Given the description of an element on the screen output the (x, y) to click on. 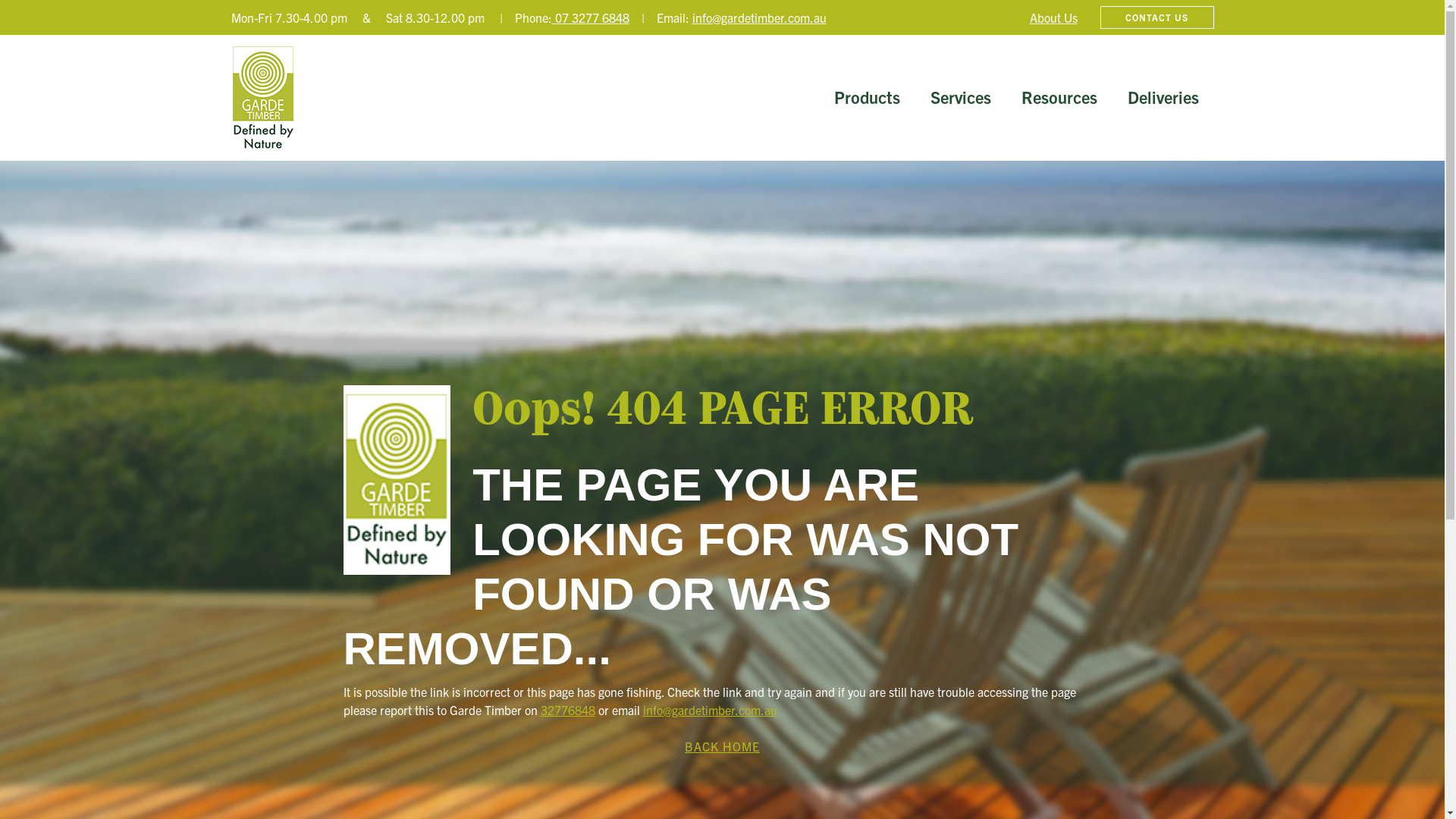
07 3277 6848 Element type: text (590, 17)
Deliveries Element type: text (1162, 97)
BACK HOME Element type: text (721, 745)
info@gardetimber.com.au Element type: text (710, 709)
CONTACT US Element type: text (1156, 17)
About Us Element type: text (1053, 17)
32776848 Element type: text (566, 709)
Products Element type: text (867, 97)
Services Element type: text (959, 97)
Resources Element type: text (1058, 97)
info@gardetimber.com.au Element type: text (758, 17)
